Given the description of an element on the screen output the (x, y) to click on. 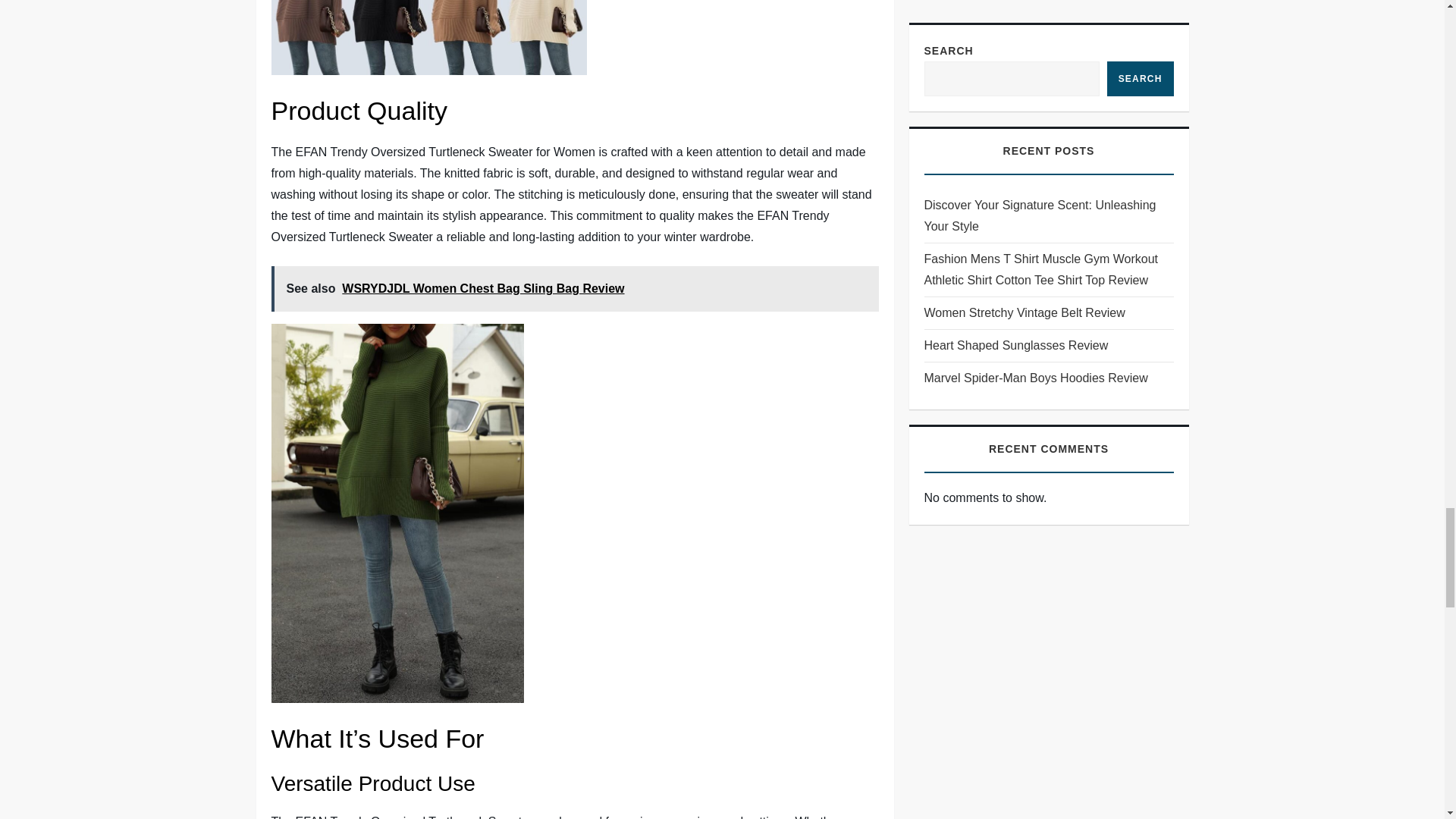
See also  WSRYDJDL Women Chest Bag Sling Bag Review (574, 289)
